Given the description of an element on the screen output the (x, y) to click on. 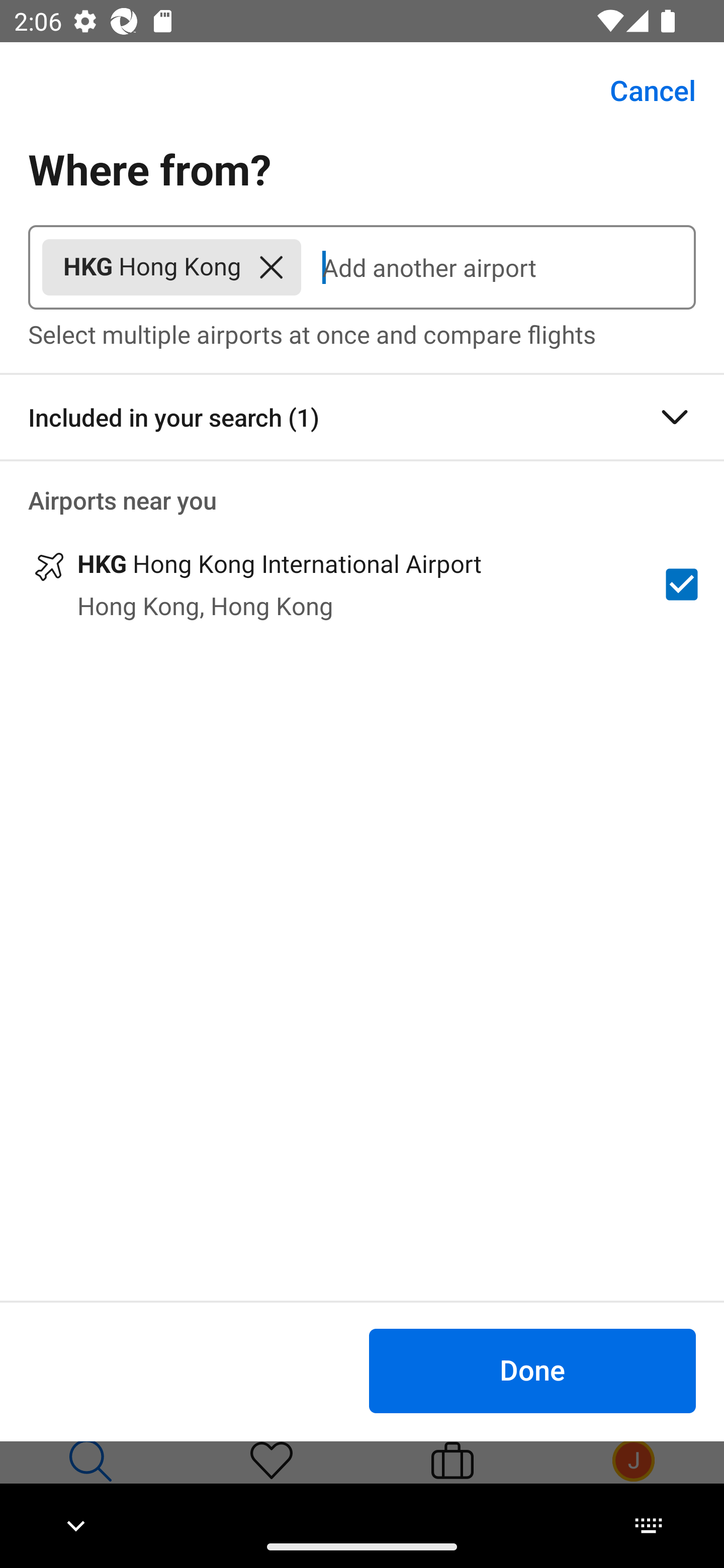
Cancel (641, 90)
Add another airport (498, 266)
HKG Hong Kong Remove HKG Hong Kong (171, 266)
Included in your search (1) (362, 416)
Done (532, 1370)
